Given the description of an element on the screen output the (x, y) to click on. 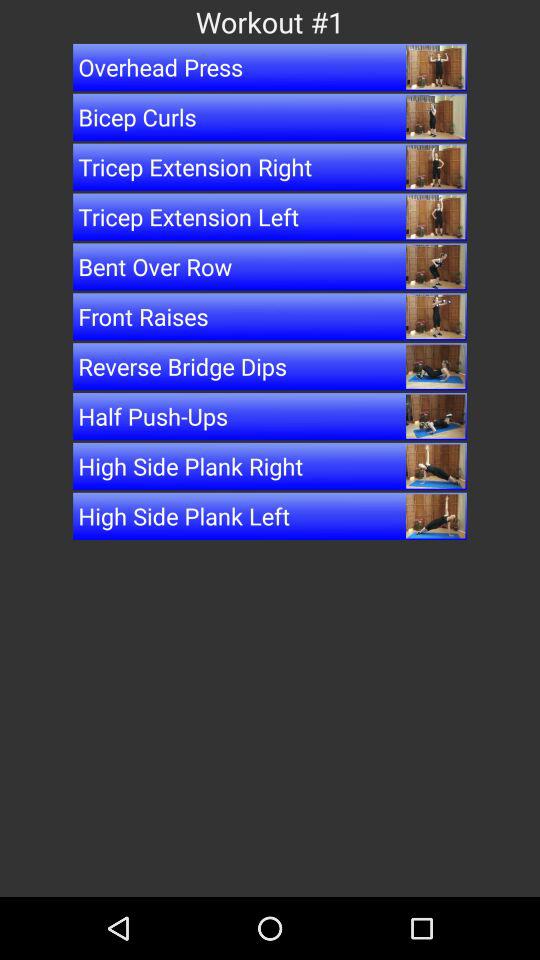
select the item above the high side plank icon (269, 416)
